Given the description of an element on the screen output the (x, y) to click on. 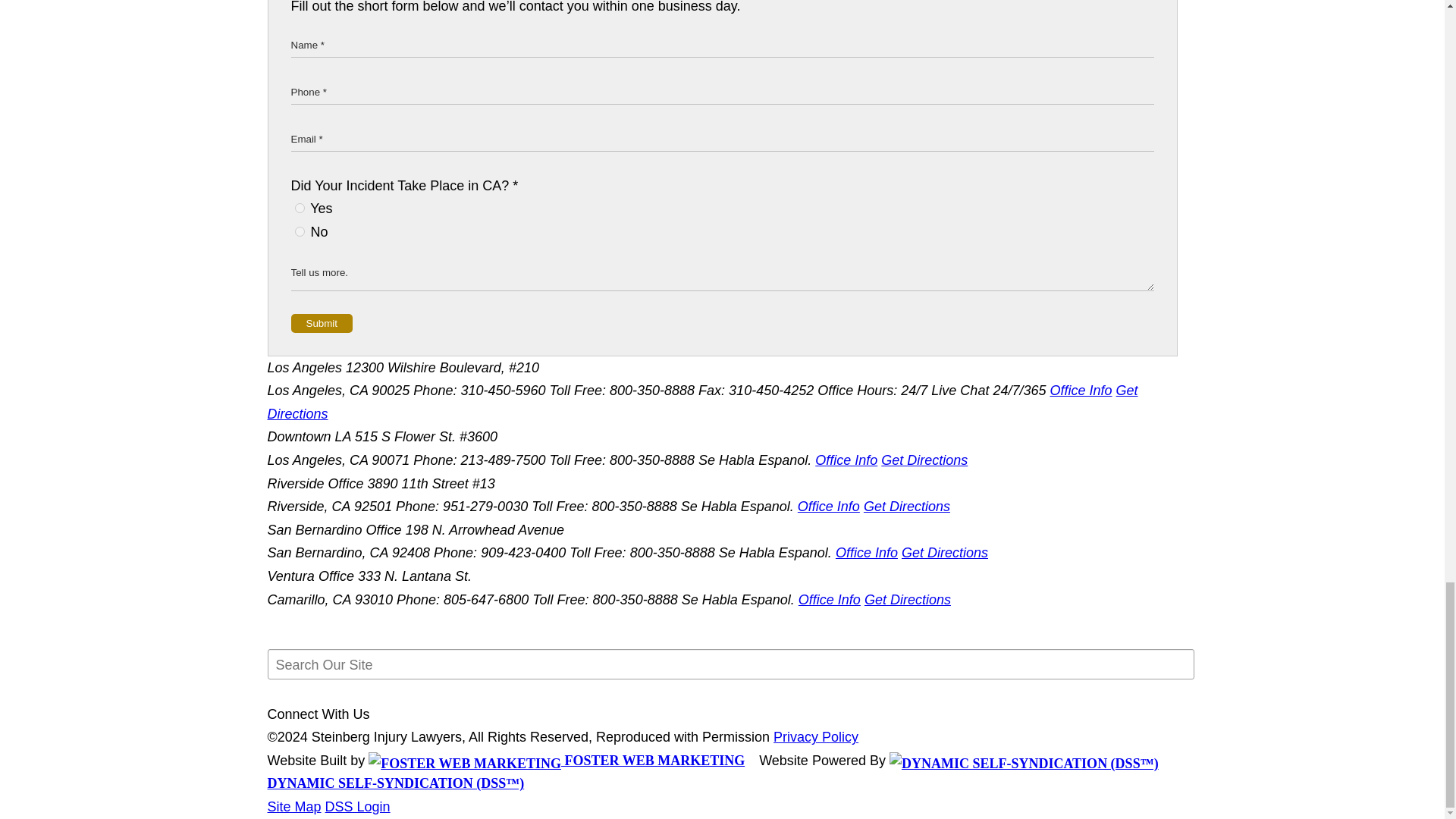
Yes (299, 207)
No (299, 231)
